Given the description of an element on the screen output the (x, y) to click on. 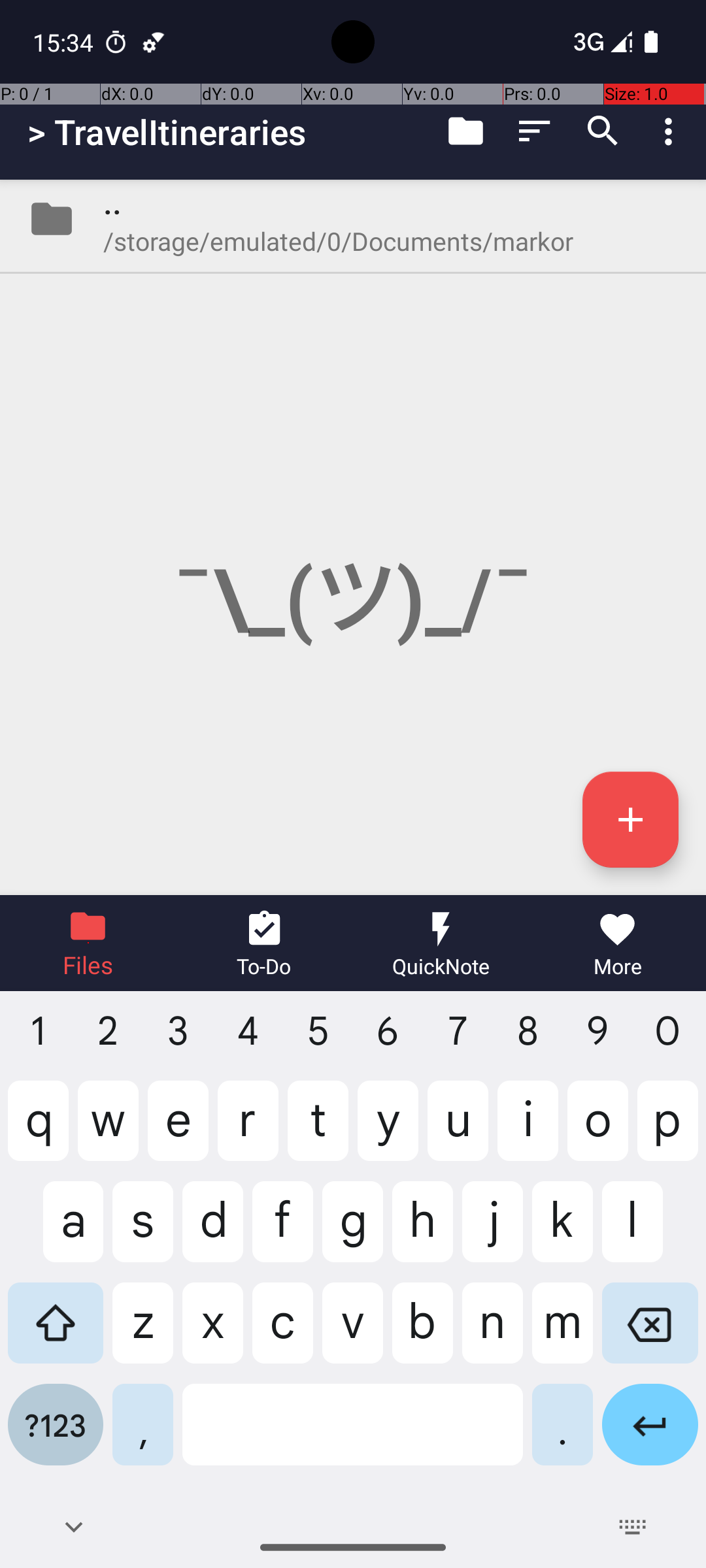
> TravelItineraries Element type: android.widget.TextView (166, 131)
